Given the description of an element on the screen output the (x, y) to click on. 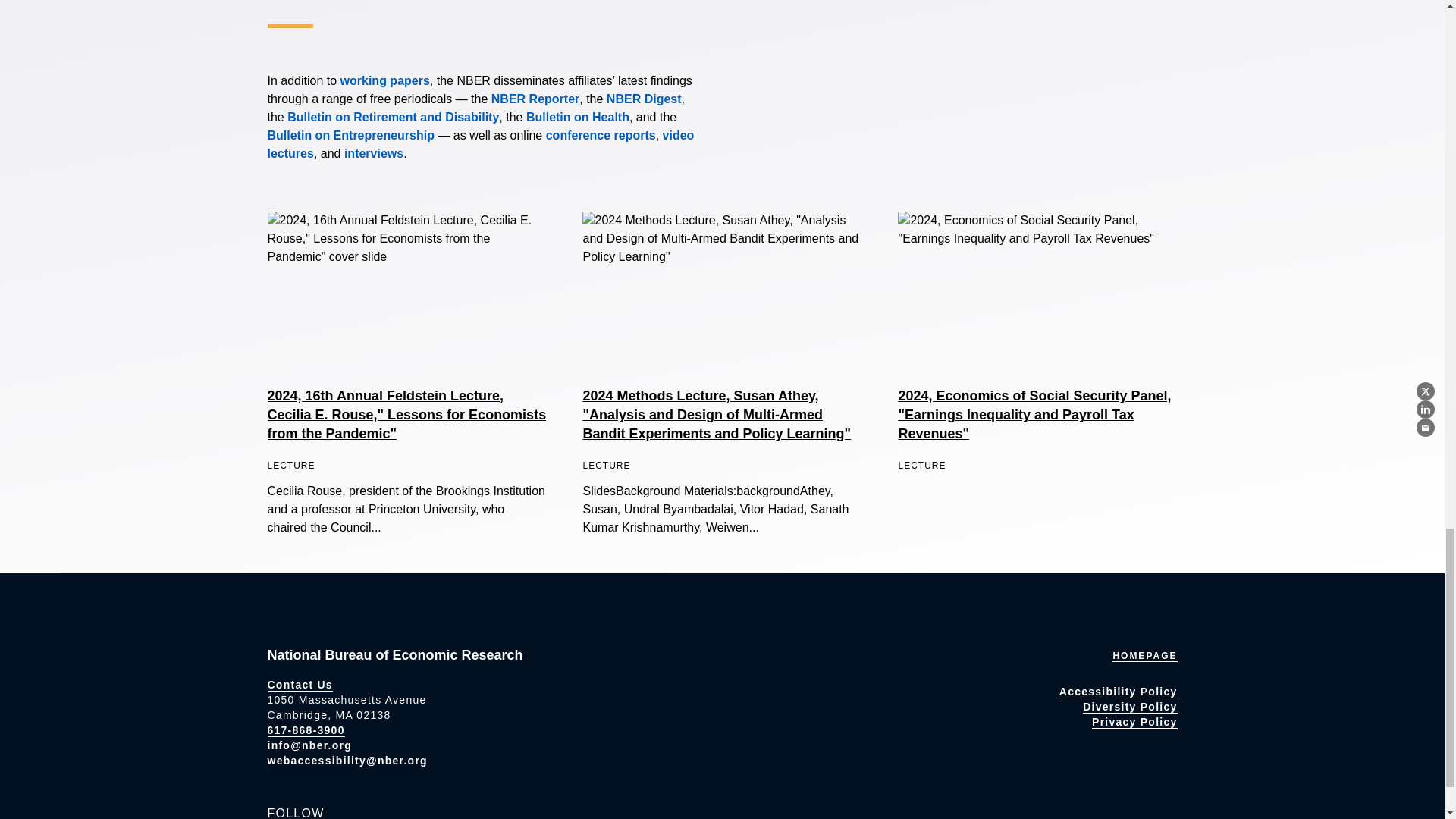
Conferences (601, 134)
Working Papers (384, 80)
Research Spotlights (373, 153)
Lectures (480, 143)
